Given the description of an element on the screen output the (x, y) to click on. 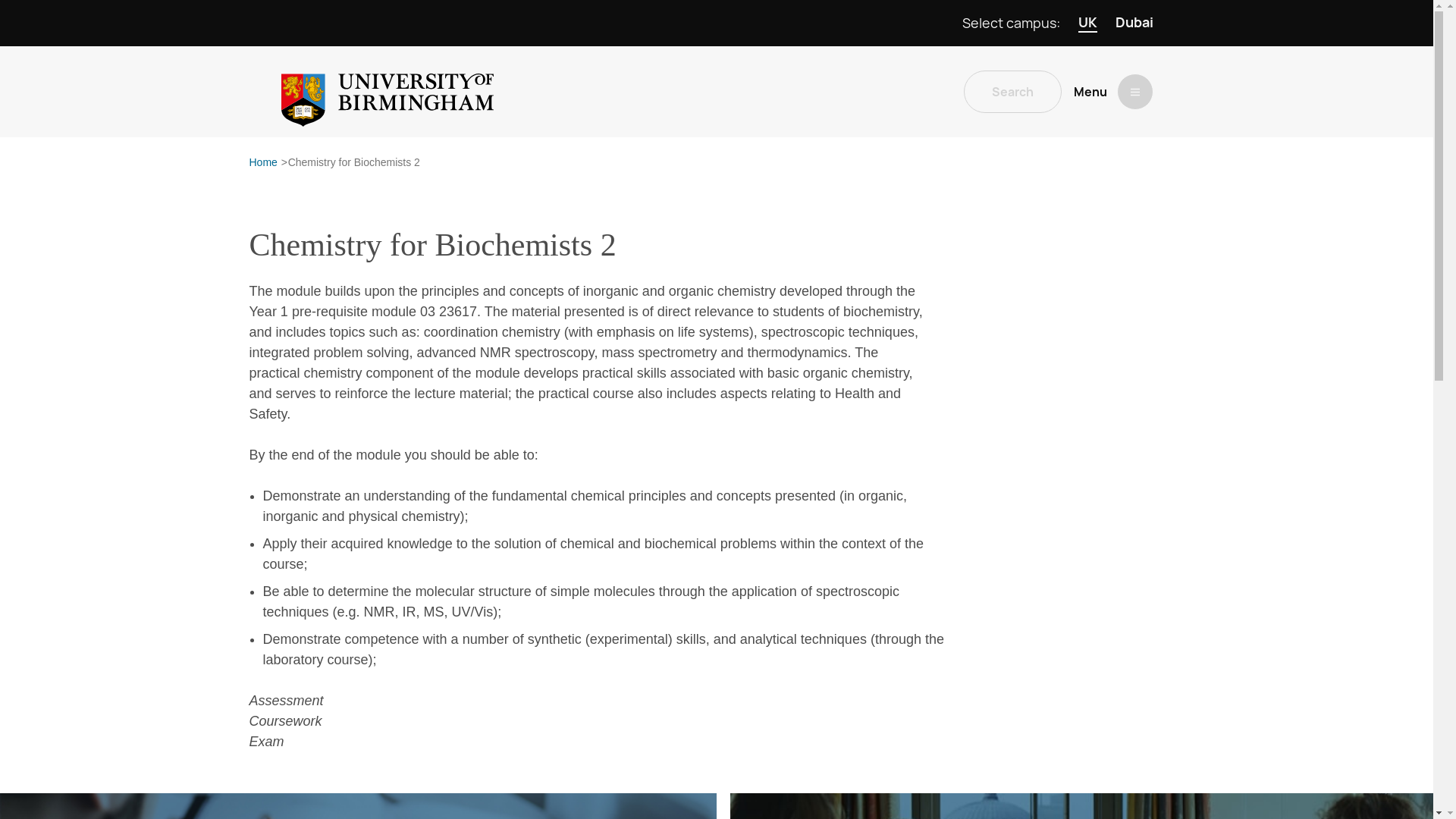
UK (1087, 23)
Home (262, 162)
Dubai (1134, 23)
Search (1012, 91)
Chemistry for Biochemists 2 (354, 162)
